Given the description of an element on the screen output the (x, y) to click on. 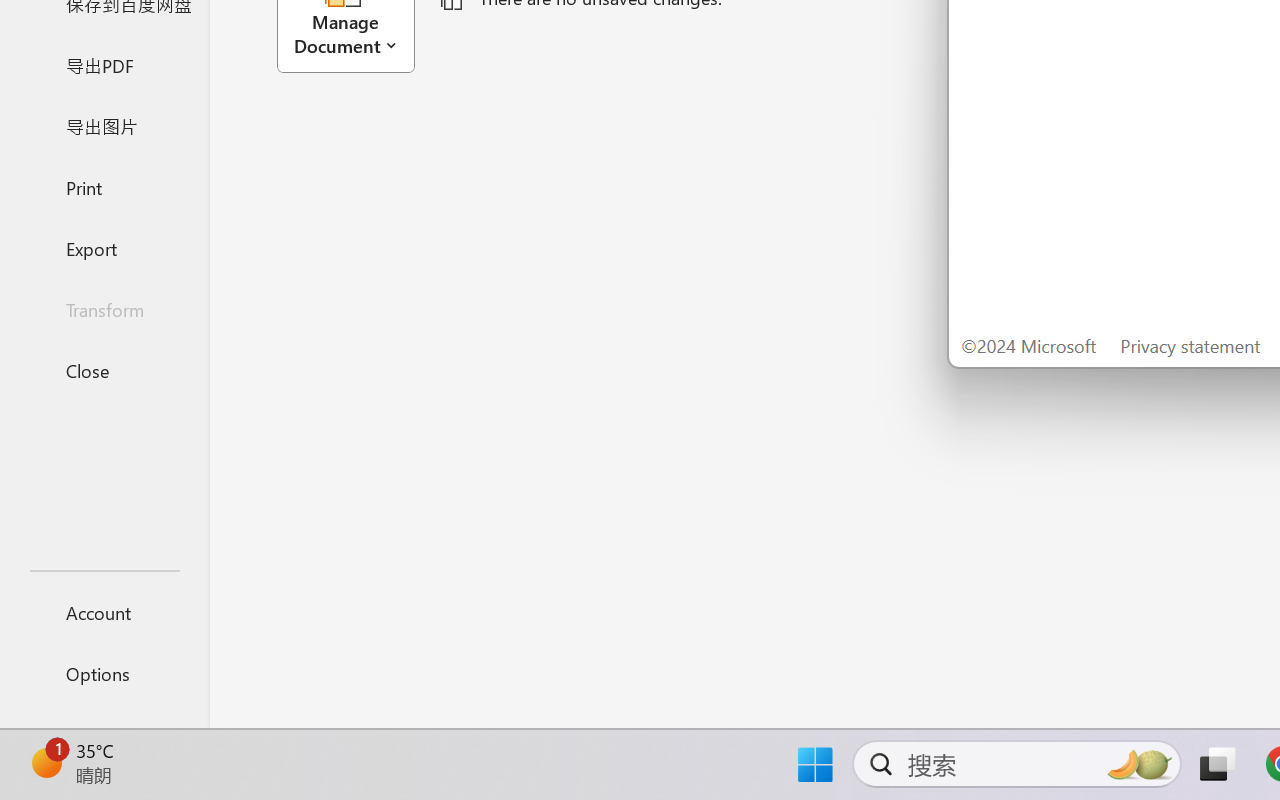
Options (104, 673)
Account (104, 612)
Print (104, 186)
Export (104, 248)
